Given the description of an element on the screen output the (x, y) to click on. 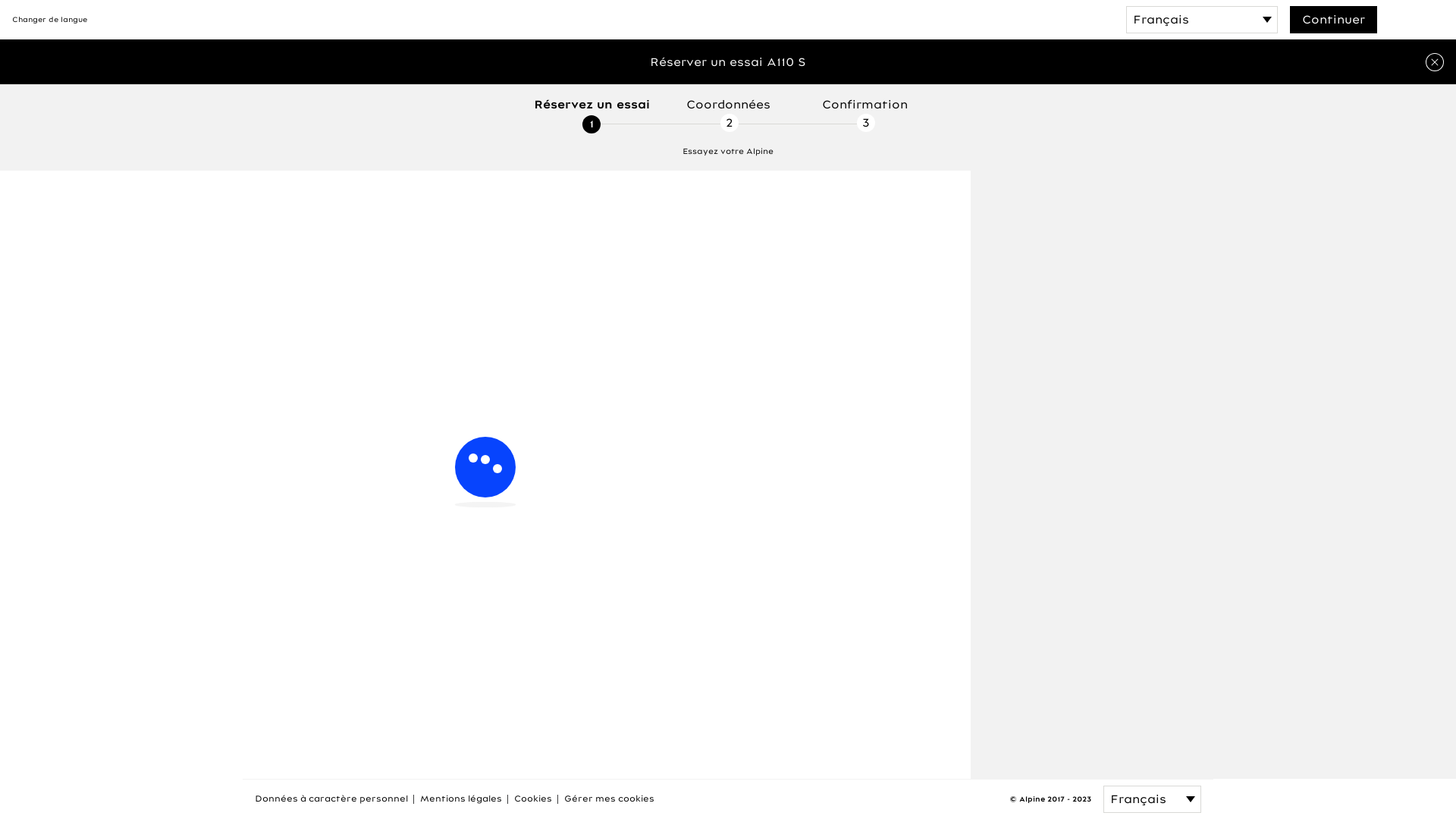
Continuer Element type: text (1333, 19)
Cookies Element type: text (533, 798)
